Given the description of an element on the screen output the (x, y) to click on. 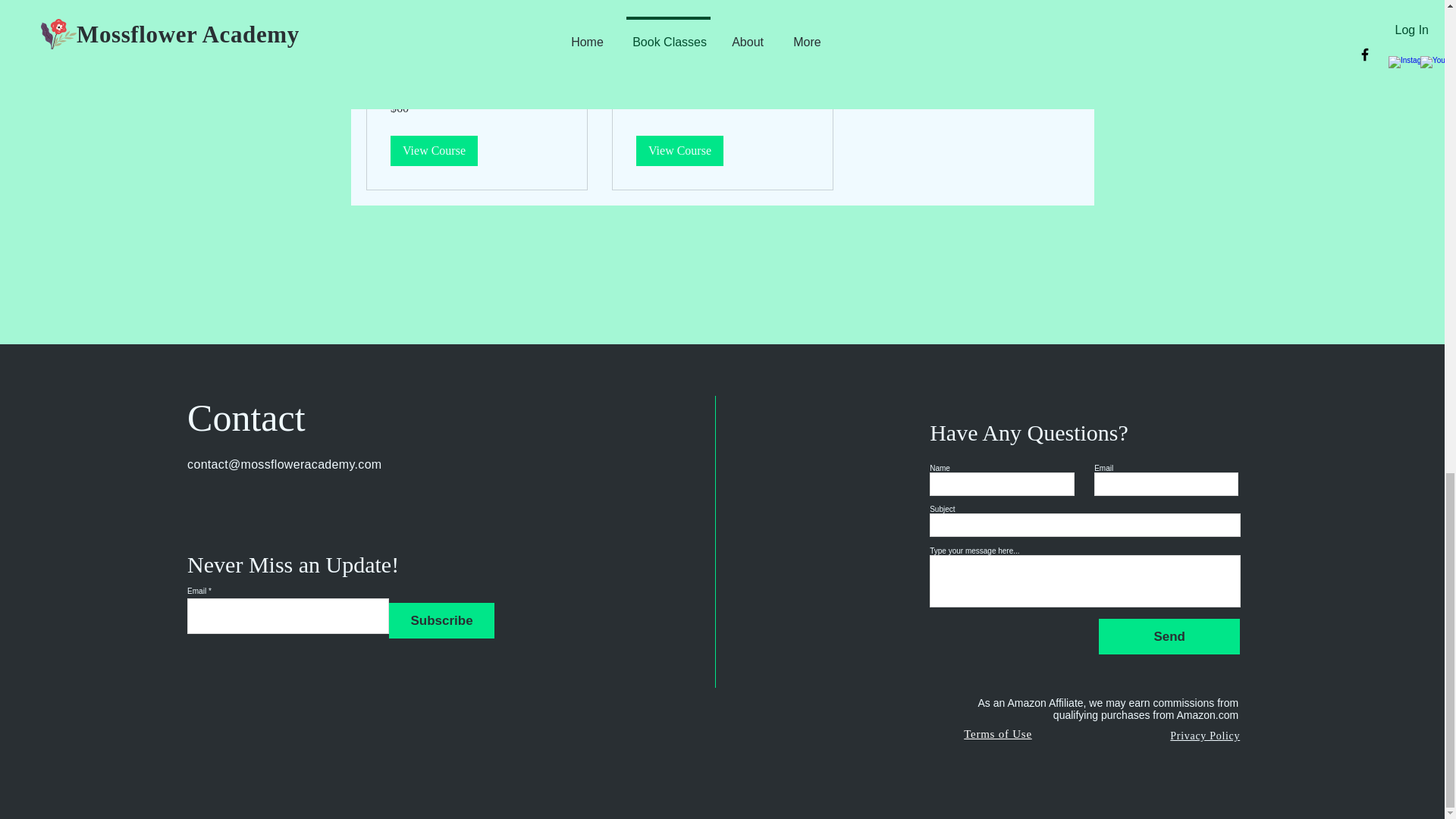
View Course (678, 150)
Send (1169, 636)
Privacy Policy (1205, 736)
View Course (433, 150)
Read More (476, 25)
Subscribe (441, 620)
